Given the description of an element on the screen output the (x, y) to click on. 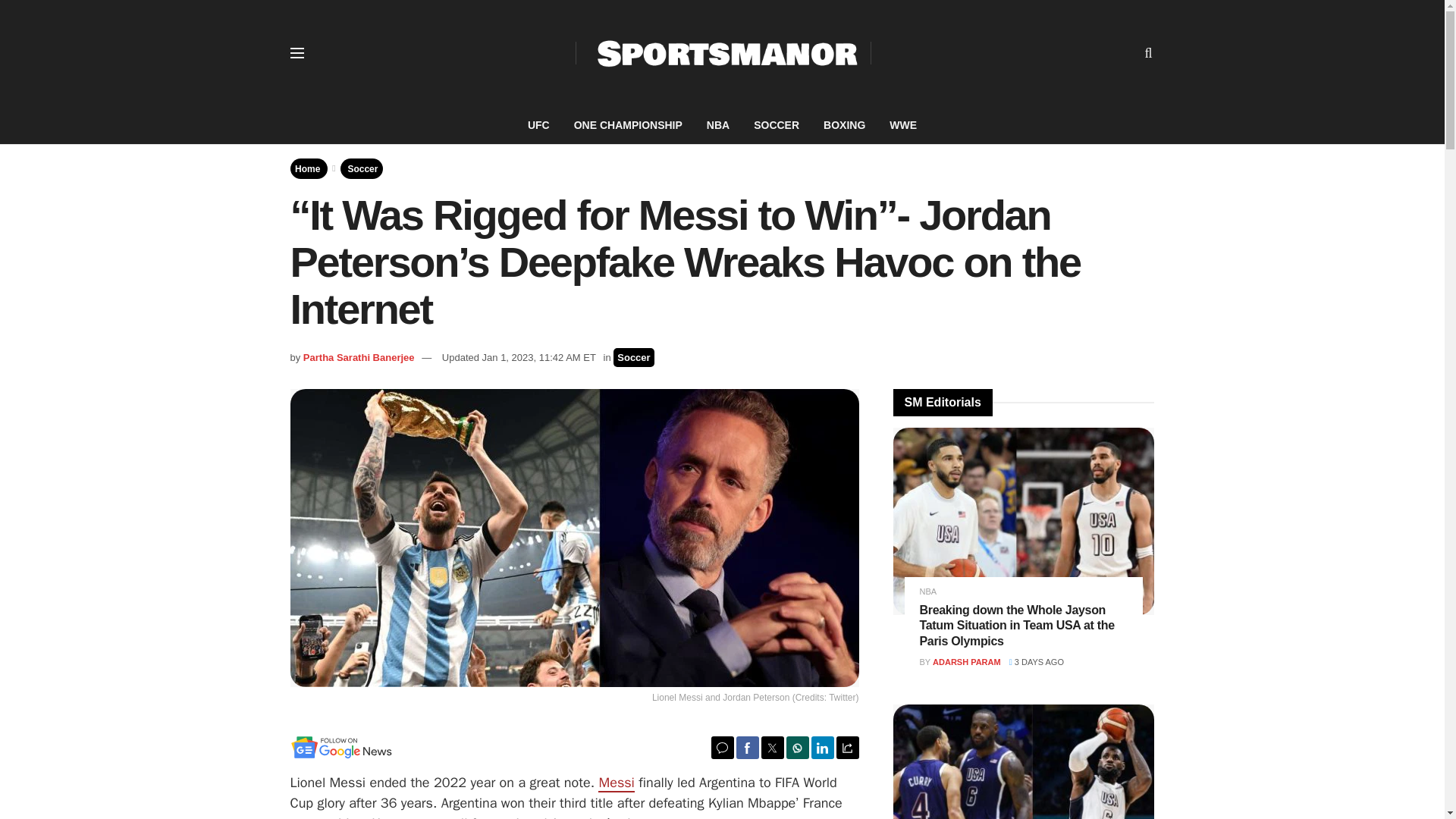
Soccer (362, 167)
BOXING (843, 125)
Partha Sarathi Banerjee (358, 357)
NBA (717, 125)
Updated Jan 1, 2023, 11:42 AM ET (518, 357)
ONE CHAMPIONSHIP (628, 125)
Home (307, 167)
Soccer (632, 357)
Messi (615, 782)
SOCCER (775, 125)
UFC (538, 125)
WWE (902, 125)
